Given the description of an element on the screen output the (x, y) to click on. 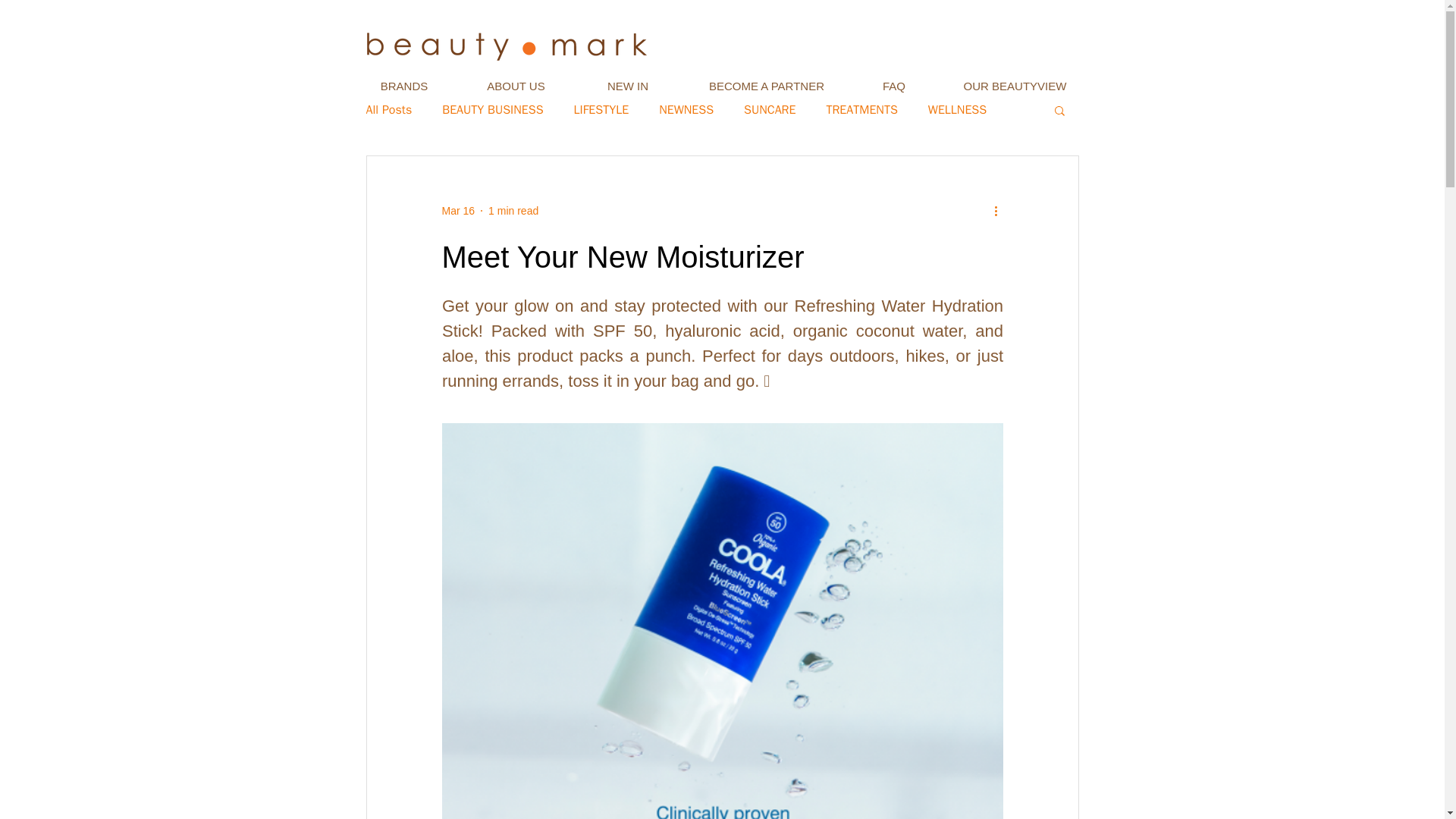
BECOME A PARTNER (766, 86)
NEW IN (628, 86)
Mar 16 (457, 210)
All Posts (388, 109)
OUR BEAUTYVIEW (1014, 86)
BRANDS (403, 86)
BEAUTY BUSINESS (492, 109)
LIFESTYLE (600, 109)
ABOUT US (516, 86)
1 min read (512, 210)
